Given the description of an element on the screen output the (x, y) to click on. 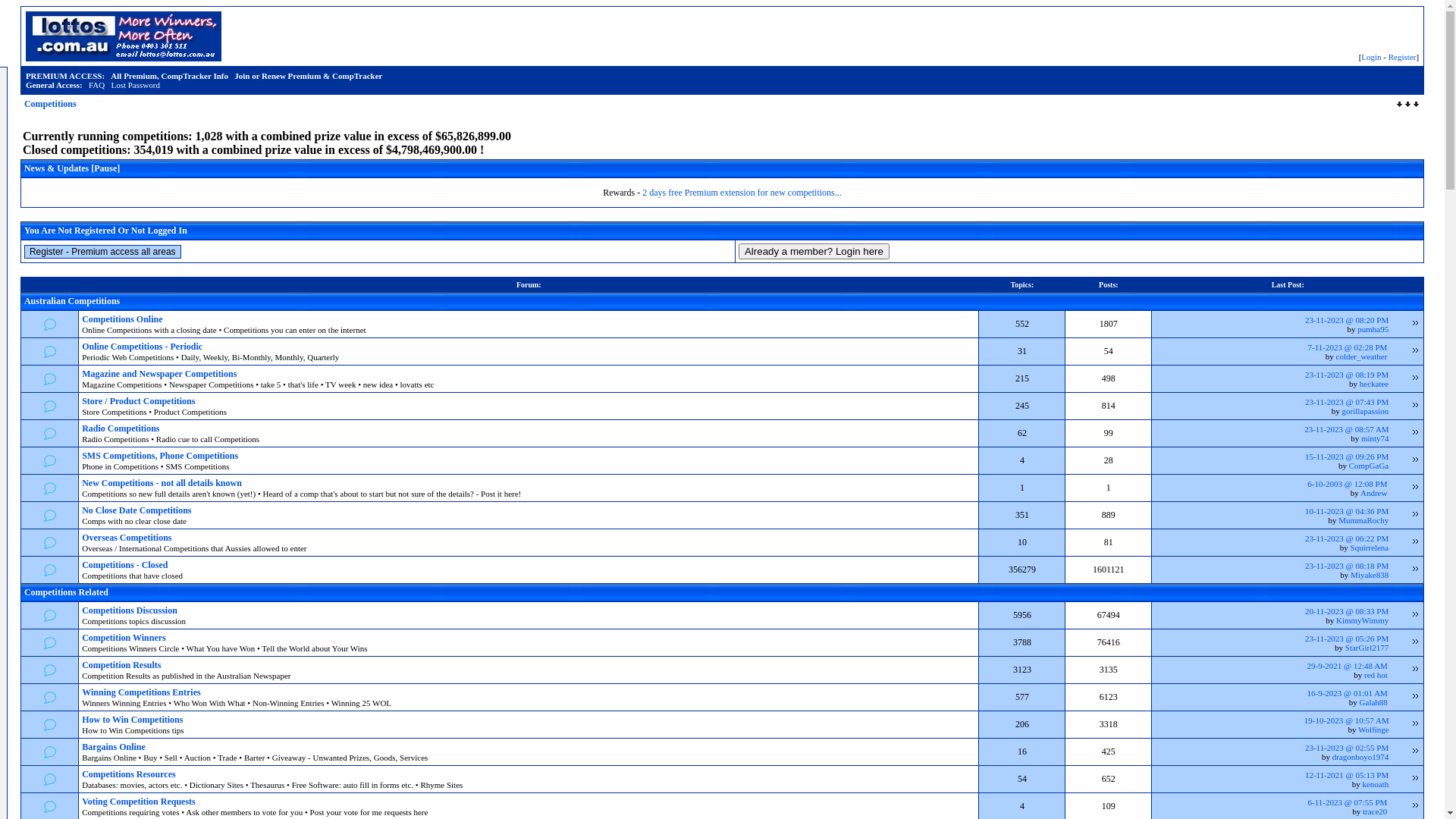
heckatee Element type: text (1373, 383)
16-9-2023 @ 01:01 AM Element type: text (1346, 692)
trace20 Element type: text (1374, 810)
Go to last post Element type: hover (1415, 751)
colder_weather Element type: text (1361, 355)
Register - Premium access all areas Element type: text (102, 250)
Pause Element type: text (105, 168)
Go to last post Element type: hover (1415, 460)
15-11-2023 @ 09:26 PM Element type: text (1346, 456)
23-11-2023 @ 08:57 AM Element type: text (1346, 428)
MummaRochy Element type: text (1363, 519)
Voting Competition Requests Element type: text (138, 801)
Go to last post Element type: hover (1415, 805)
29-9-2021 @ 12:48 AM Element type: text (1346, 665)
Go to last post Element type: hover (1415, 569)
Go to last post Element type: hover (1415, 778)
red hot Element type: text (1375, 674)
19-10-2023 @ 10:57 AM Element type: text (1346, 719)
No Close Date Competitions Element type: text (136, 510)
Competitions Discussion Element type: text (129, 610)
Go to last post Element type: hover (1415, 432)
Competitions Online Element type: text (121, 318)
Competition Winners Element type: text (123, 637)
20-11-2023 @ 08:33 PM Element type: text (1346, 610)
How to Win Competitions Element type: text (131, 719)
23-11-2023 @ 08:18 PM Element type: text (1346, 565)
12-11-2021 @ 05:13 PM Element type: text (1346, 774)
Register Element type: text (1402, 56)
Online Competitions - Periodic Element type: text (141, 346)
kenoath Element type: text (1374, 783)
Winning Competitions Entries Element type: text (140, 692)
KimmyWimmy Element type: text (1362, 619)
Go To Bottom Element type: hover (1407, 103)
6-11-2023 @ 07:55 PM Element type: text (1347, 801)
Already a member? Login here Element type: text (813, 251)
dragonboyo1974 Element type: text (1360, 756)
Galah88 Element type: text (1373, 701)
Go to last post Element type: hover (1415, 614)
Go to last post Element type: hover (1415, 696)
gorillapassion Element type: text (1365, 410)
Already a member? Login here Element type: text (813, 251)
Australian Competitions Element type: text (71, 300)
Go to last post Element type: hover (1415, 378)
Competitions Element type: text (50, 103)
Join or Renew Premium & CompTracker Element type: text (308, 75)
Competition Results Element type: text (120, 664)
FAQ Element type: text (96, 84)
Go to last post Element type: hover (1415, 541)
23-11-2023 @ 05:26 PM Element type: text (1346, 638)
23-11-2023 @ 06:22 PM Element type: text (1346, 537)
Go to last post Element type: hover (1415, 405)
10-11-2023 @ 04:36 PM Element type: text (1346, 510)
New Competitions - not all details known Element type: text (161, 482)
competitions Element type: hover (123, 36)
Miyake838 Element type: text (1369, 574)
Competitions - Closed Element type: text (124, 564)
Radio Competitions Element type: text (120, 428)
Lost Password Element type: text (134, 84)
Overseas Competitions Element type: text (126, 537)
SMS Competitions, Phone Competitions Element type: text (159, 455)
Go to last post Element type: hover (1415, 642)
Squirrelena Element type: text (1369, 547)
Go to last post Element type: hover (1415, 514)
6-10-2003 @ 12:08 PM Element type: text (1346, 483)
Store / Product Competitions Element type: text (137, 400)
Login Element type: text (1370, 56)
23-11-2023 @ 02:55 PM Element type: text (1346, 747)
Go to last post Element type: hover (1415, 487)
All Premium, CompTracker Info Element type: text (169, 75)
pumba95 Element type: text (1372, 328)
Bargains Online Element type: text (113, 746)
Go to last post Element type: hover (1415, 723)
StarGirl2177 Element type: text (1366, 647)
Magazine and Newspaper Competitions Element type: text (158, 373)
23-11-2023 @ 08:20 PM Element type: text (1346, 319)
7-11-2023 @ 02:28 PM Element type: text (1347, 346)
23-11-2023 @ 07:43 PM Element type: text (1346, 401)
Go to last post Element type: hover (1415, 350)
Andrew Element type: text (1373, 492)
CompGaGa Element type: text (1369, 465)
Competitions Related Element type: text (66, 591)
23-11-2023 @ 08:19 PM Element type: text (1346, 374)
minty74 Element type: text (1375, 437)
Competitions Resources Element type: text (128, 773)
Go to last post Element type: hover (1415, 669)
Wolfinge Element type: text (1373, 729)
Go to last post Element type: hover (1415, 323)
